Given the description of an element on the screen output the (x, y) to click on. 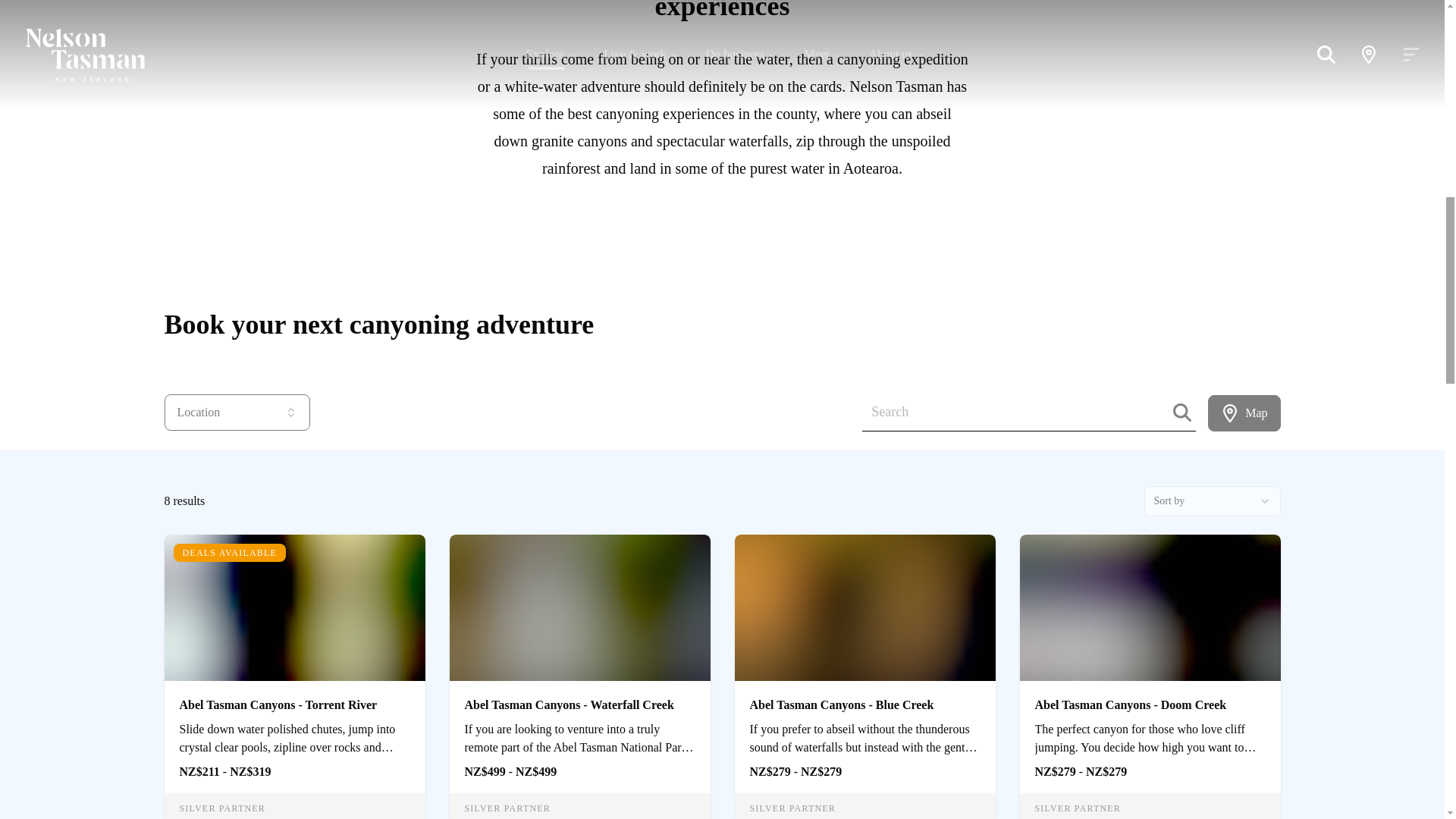
Map (1243, 412)
Abel Tasman Canyons - Torrent River (294, 700)
Sort by (1210, 501)
Abel Tasman Canyons - Waterfall Creek (579, 700)
Abel Tasman Canyons - Doom Creek (1149, 700)
Location (235, 411)
Abel Tasman Canyons - Blue Creek (864, 700)
